Given the description of an element on the screen output the (x, y) to click on. 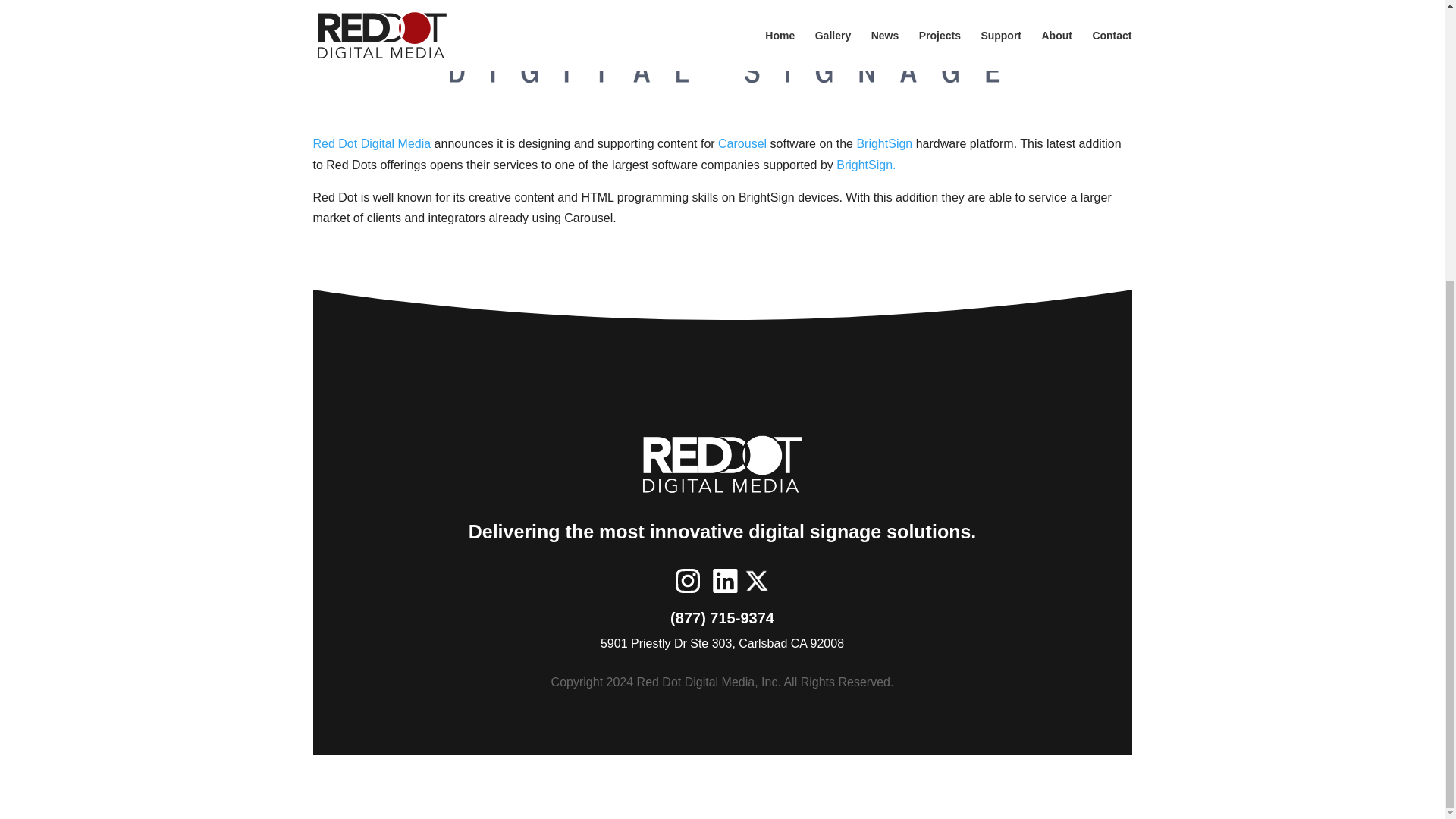
Carousel (742, 143)
Red Dot Digital Media (371, 143)
RDDM-logo-v2-white (721, 465)
BrightSign. (865, 164)
BrightSign (884, 143)
carousel-logo (722, 55)
